Given the description of an element on the screen output the (x, y) to click on. 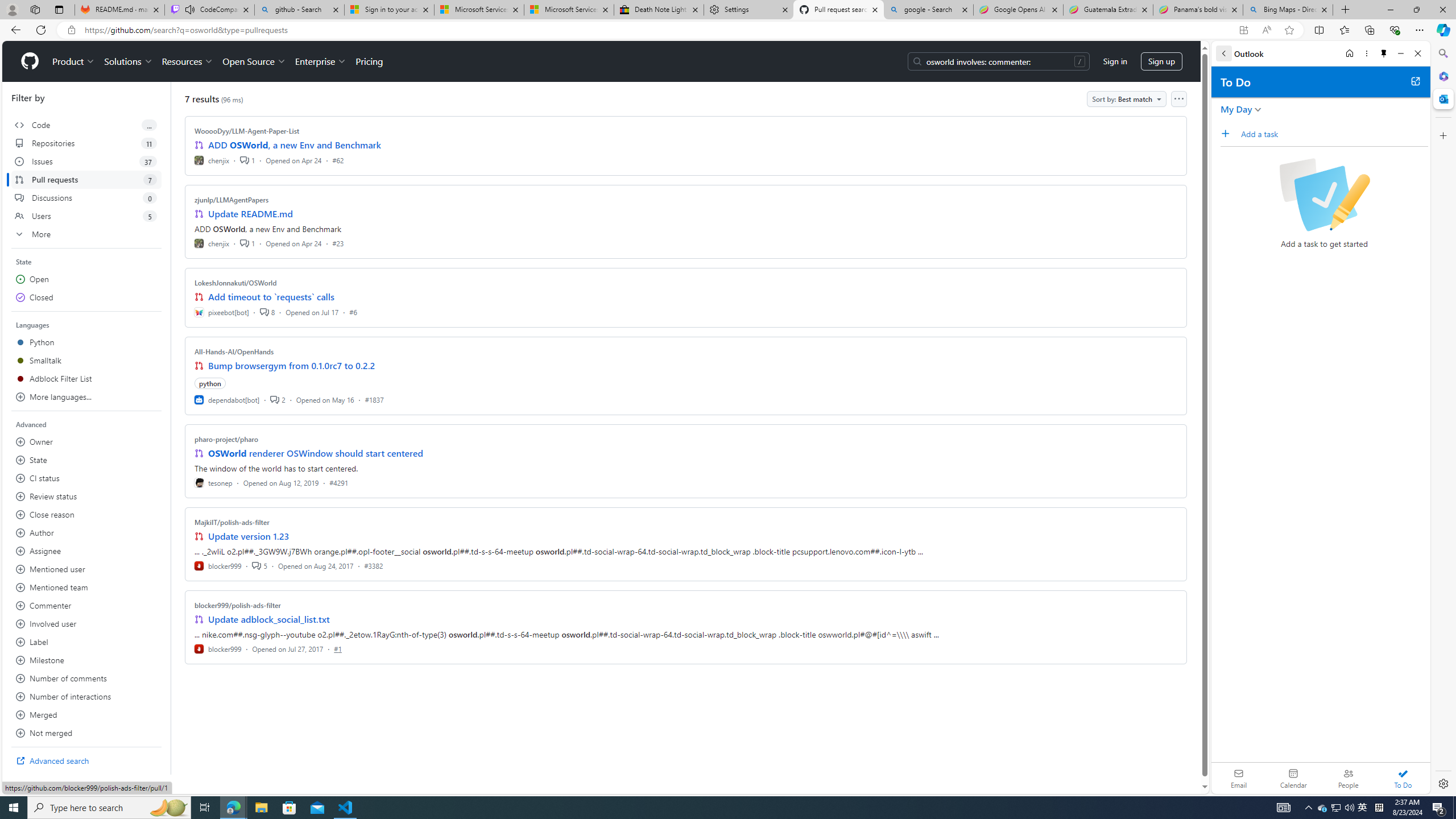
#6 (352, 311)
Pricing (368, 60)
